Given the description of an element on the screen output the (x, y) to click on. 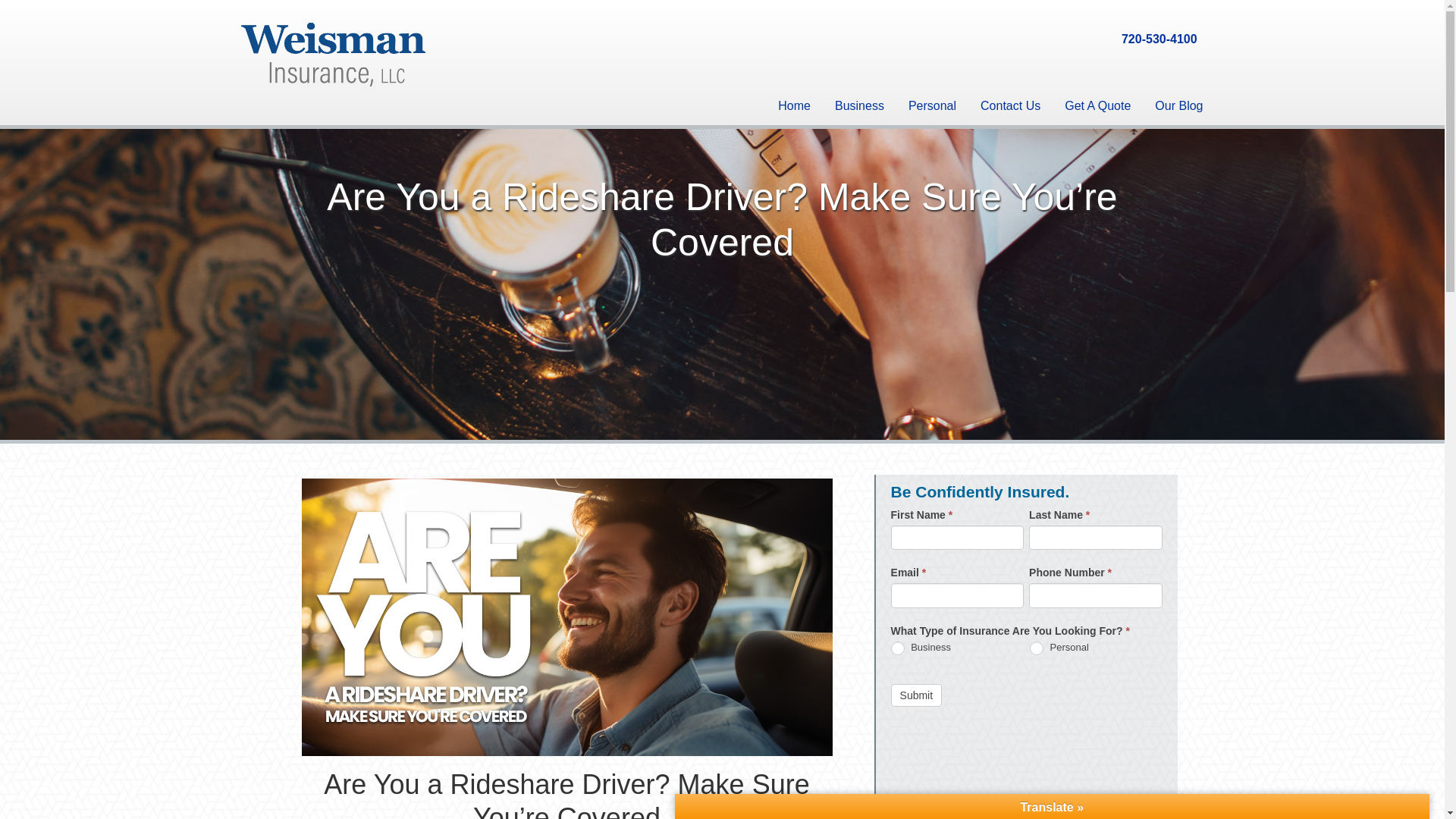
Personal (932, 105)
Contact Us (1010, 105)
720-530-4100 (1158, 38)
Business (897, 648)
Home (793, 105)
Get A Quote (1097, 105)
Our Blog (1178, 105)
Personal (1036, 648)
Submit (916, 694)
Business (859, 105)
